Given the description of an element on the screen output the (x, y) to click on. 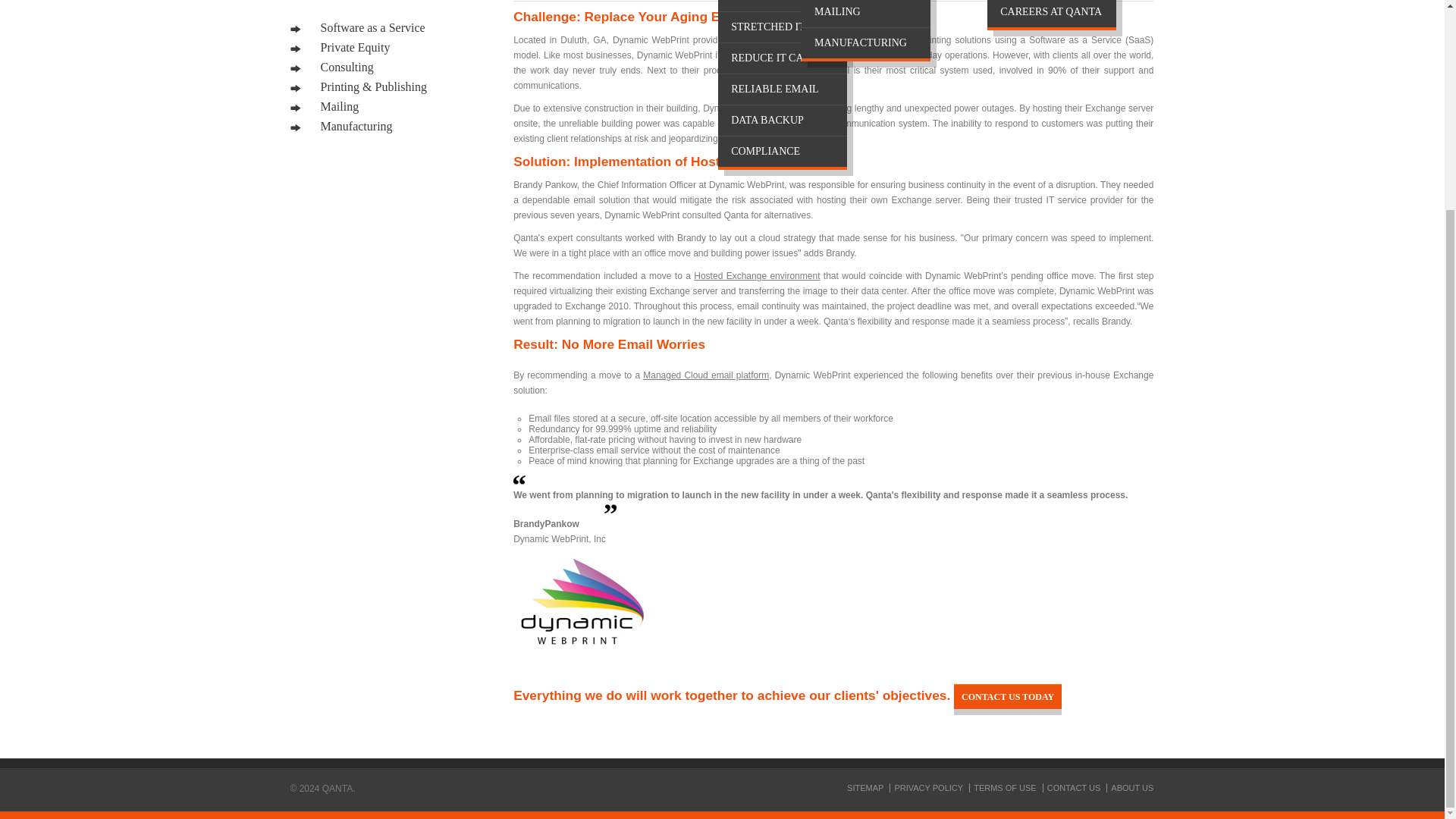
STRETCHED IT STAFF (782, 27)
MANUFACTURING (866, 42)
CAREERS AT QANTA (1051, 13)
AGING SERVERS (782, 5)
DATA BACKUP (782, 120)
Private Equity (339, 47)
COMPLIANCE (782, 151)
REDUCE IT CAPEX (782, 58)
MAILING (866, 13)
Software as a Service (357, 27)
RELIABLE EMAIL (782, 89)
